Given the description of an element on the screen output the (x, y) to click on. 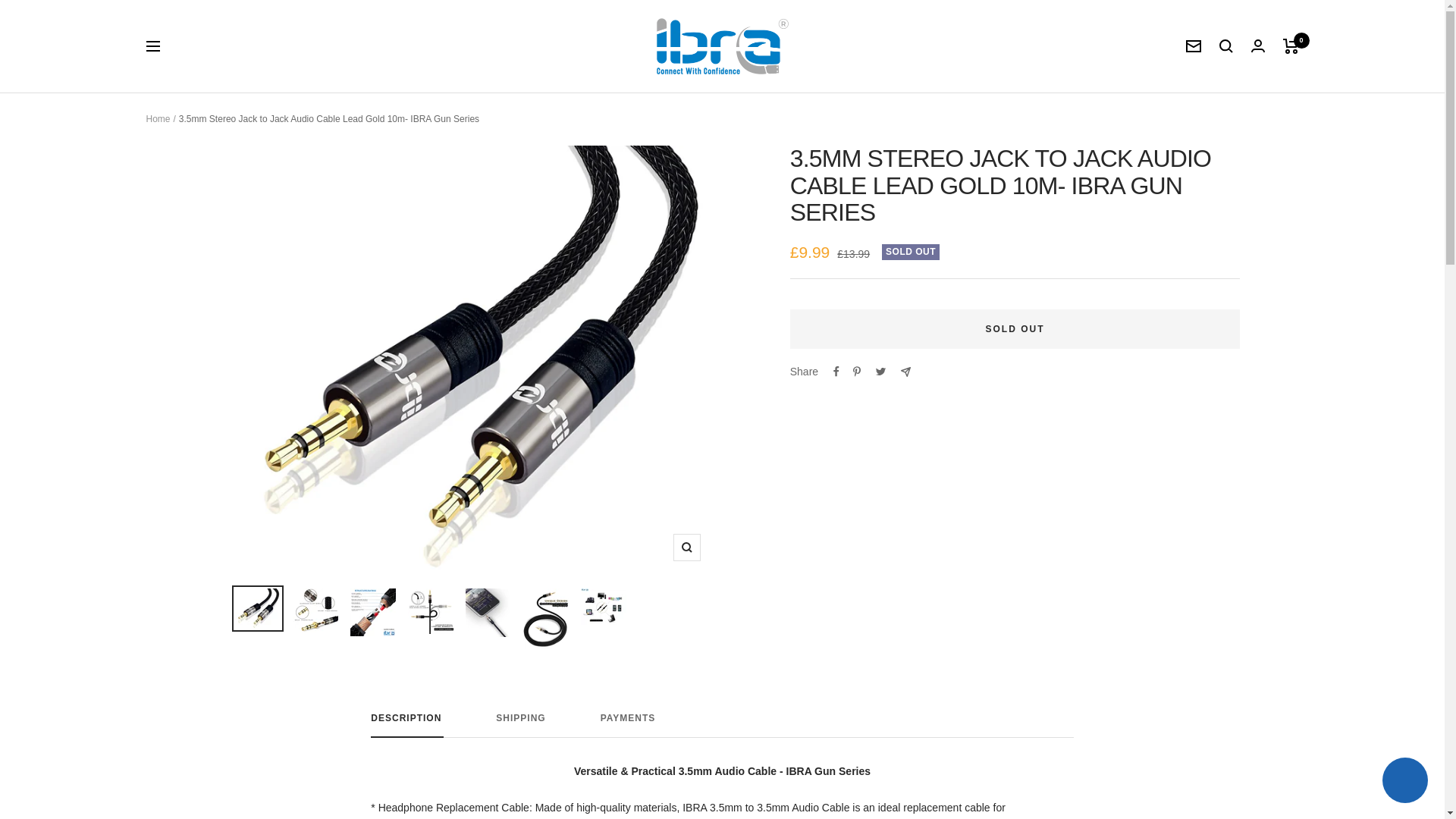
0 (722, 724)
Newsletter (1290, 46)
ibraonline.com (1193, 46)
Shopify online store chat (721, 45)
Navigation (1404, 781)
SOLD OUT (722, 724)
Home (151, 45)
Zoom (1015, 328)
